Given the description of an element on the screen output the (x, y) to click on. 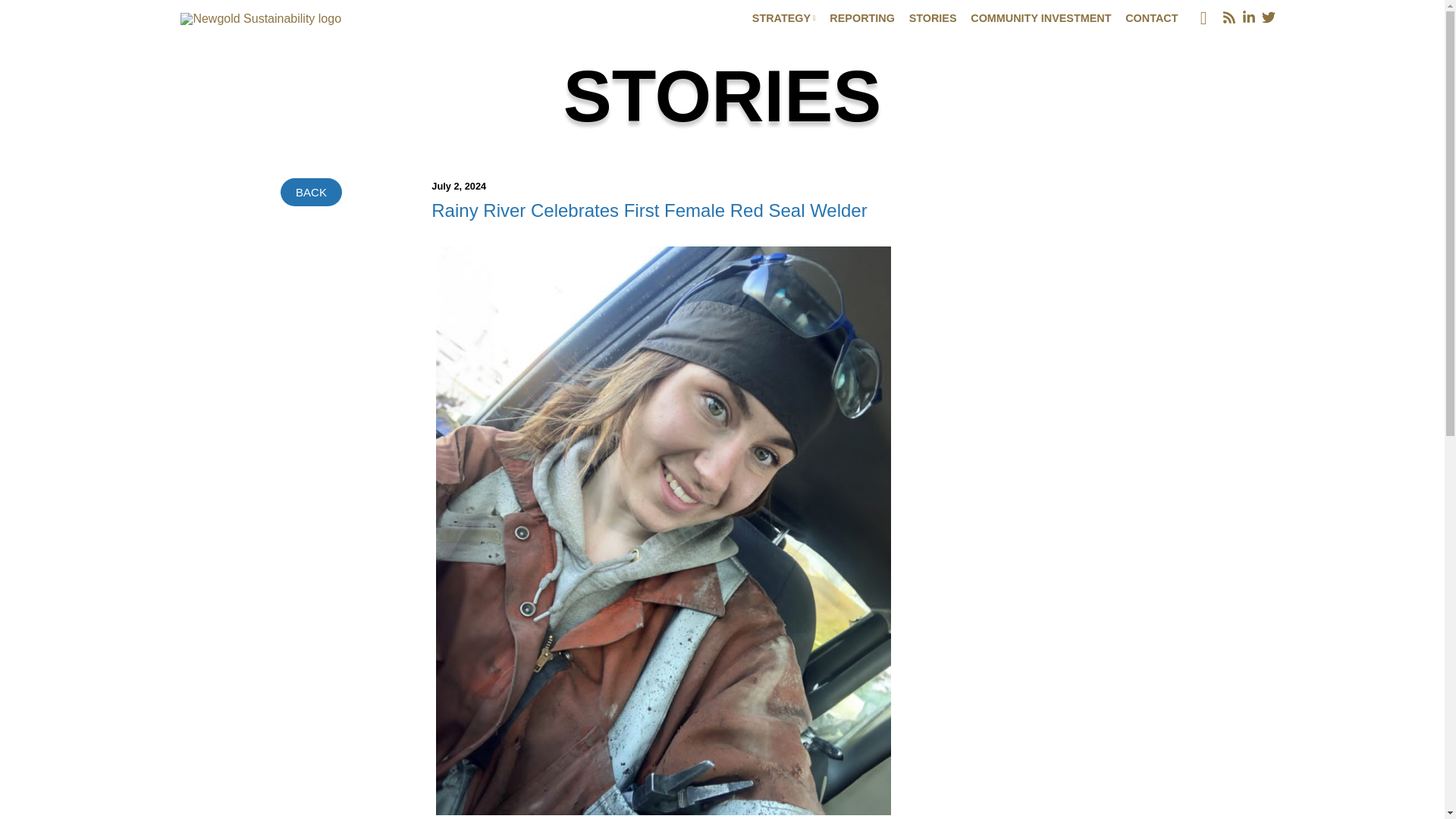
STRATEGY (783, 20)
REPORTING (862, 20)
CONTACT (1151, 20)
COMMUNITY INVESTMENT (1040, 20)
BACK (311, 192)
STORIES (932, 20)
